Given the description of an element on the screen output the (x, y) to click on. 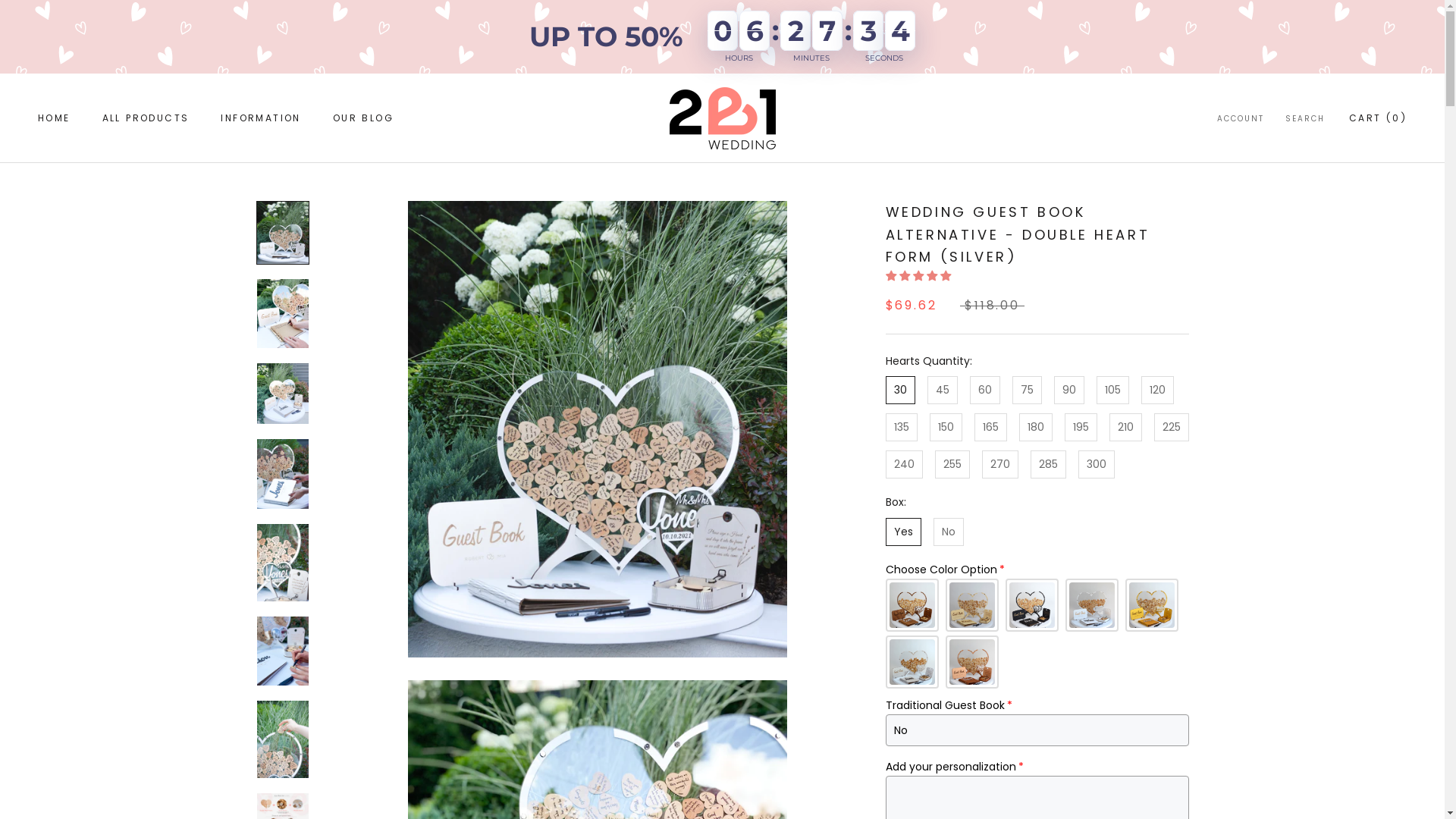
ACCOUNT Element type: text (1240, 118)
CART (0) Element type: text (1377, 117)
OUR BLOG
OUR BLOG Element type: text (362, 117)
SEARCH Element type: text (1304, 118)
INFORMATION Element type: text (260, 117)
ALL PRODUCTS Element type: text (145, 117)
HOME
HOME Element type: text (53, 117)
